Given the description of an element on the screen output the (x, y) to click on. 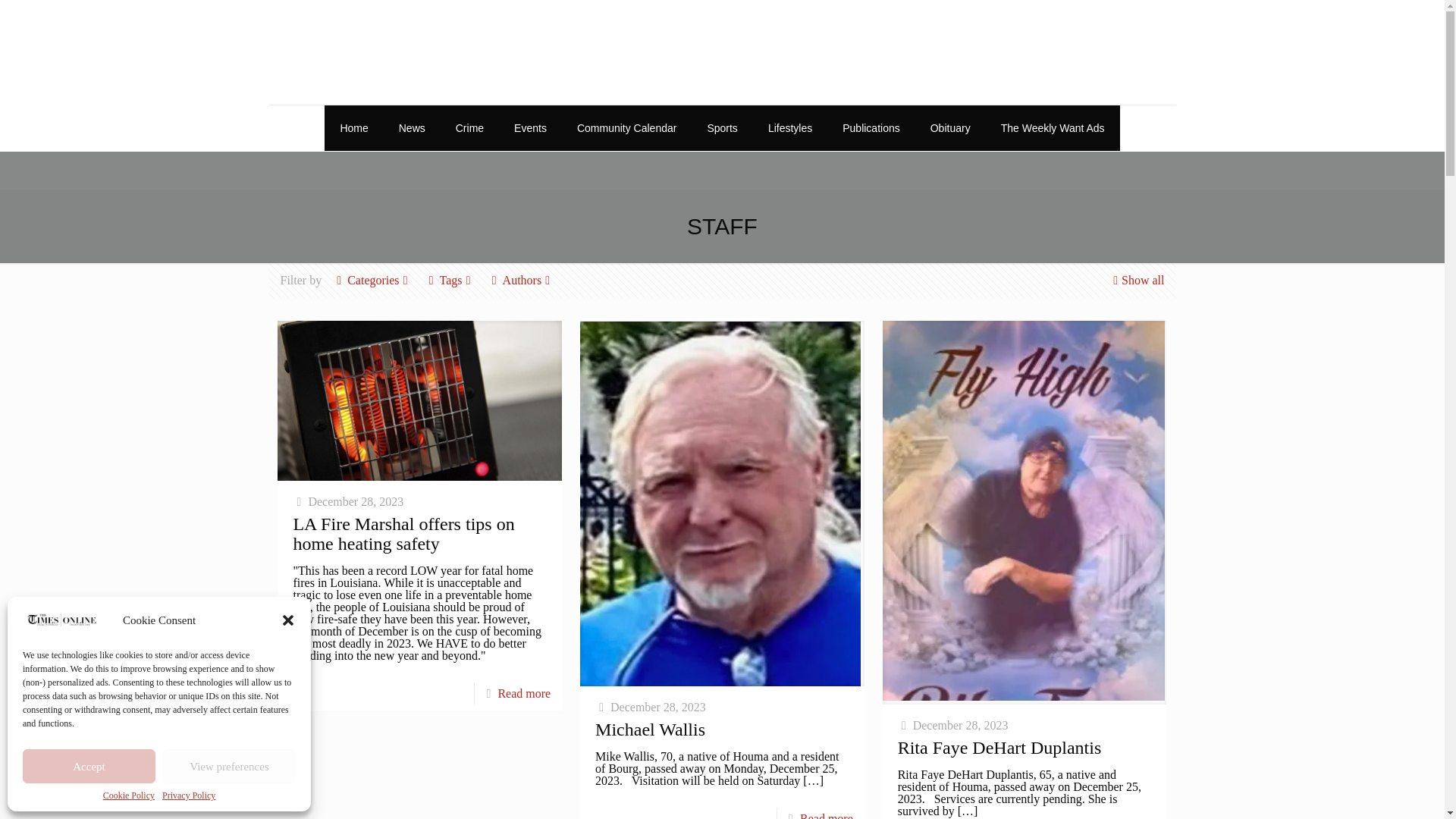
Obituary (950, 127)
Home (353, 127)
Events (530, 127)
Publications (871, 127)
Sports (721, 127)
Cookie Policy (128, 795)
Privacy Policy (188, 795)
Crime (470, 127)
View preferences (229, 765)
Lifestyles (789, 127)
Accept (89, 765)
News (412, 127)
The Weekly Want Ads (1052, 127)
Community Calendar (627, 127)
